Given the description of an element on the screen output the (x, y) to click on. 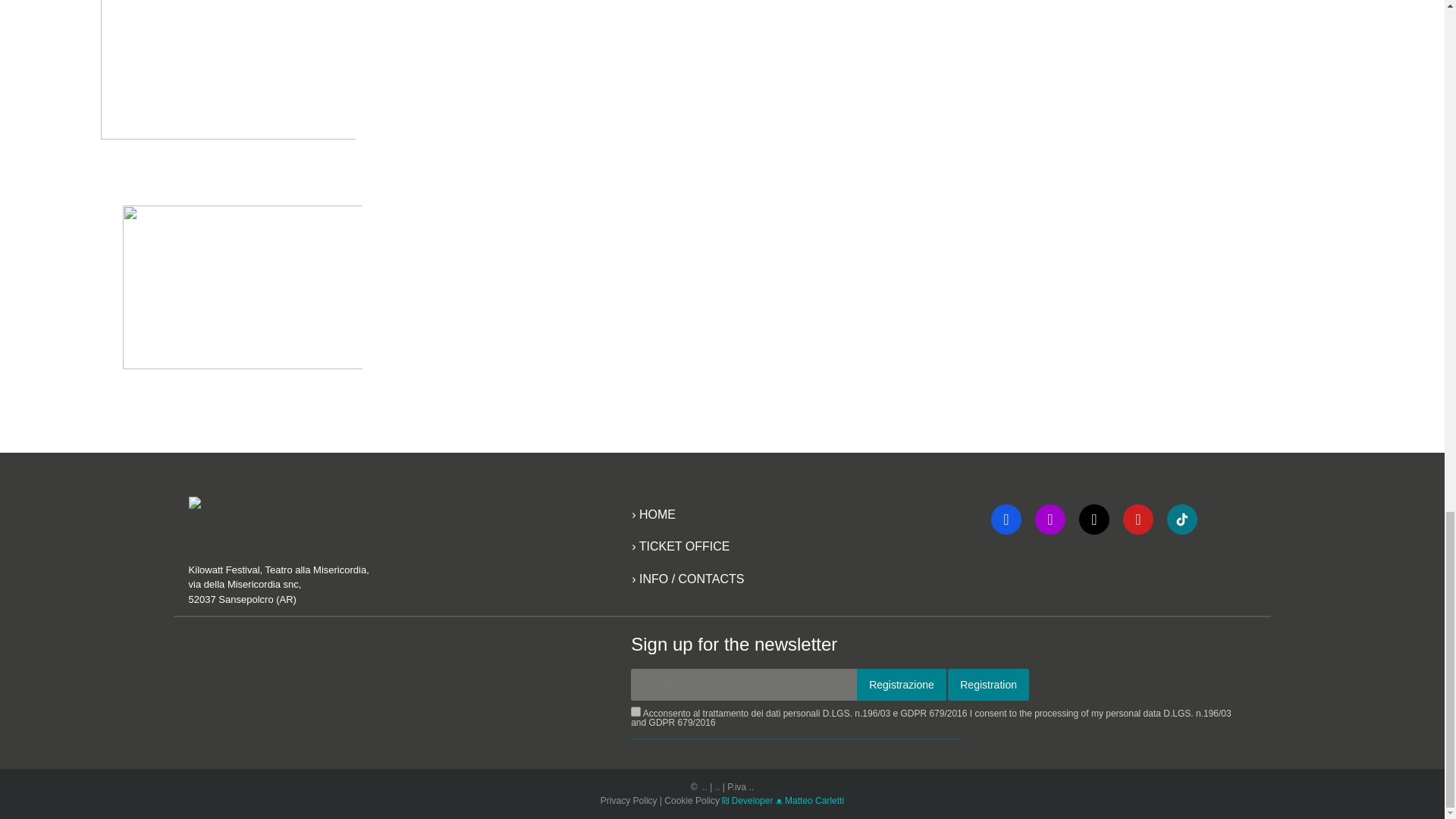
Registrazione (901, 685)
1 (635, 711)
Registration (988, 685)
